Given the description of an element on the screen output the (x, y) to click on. 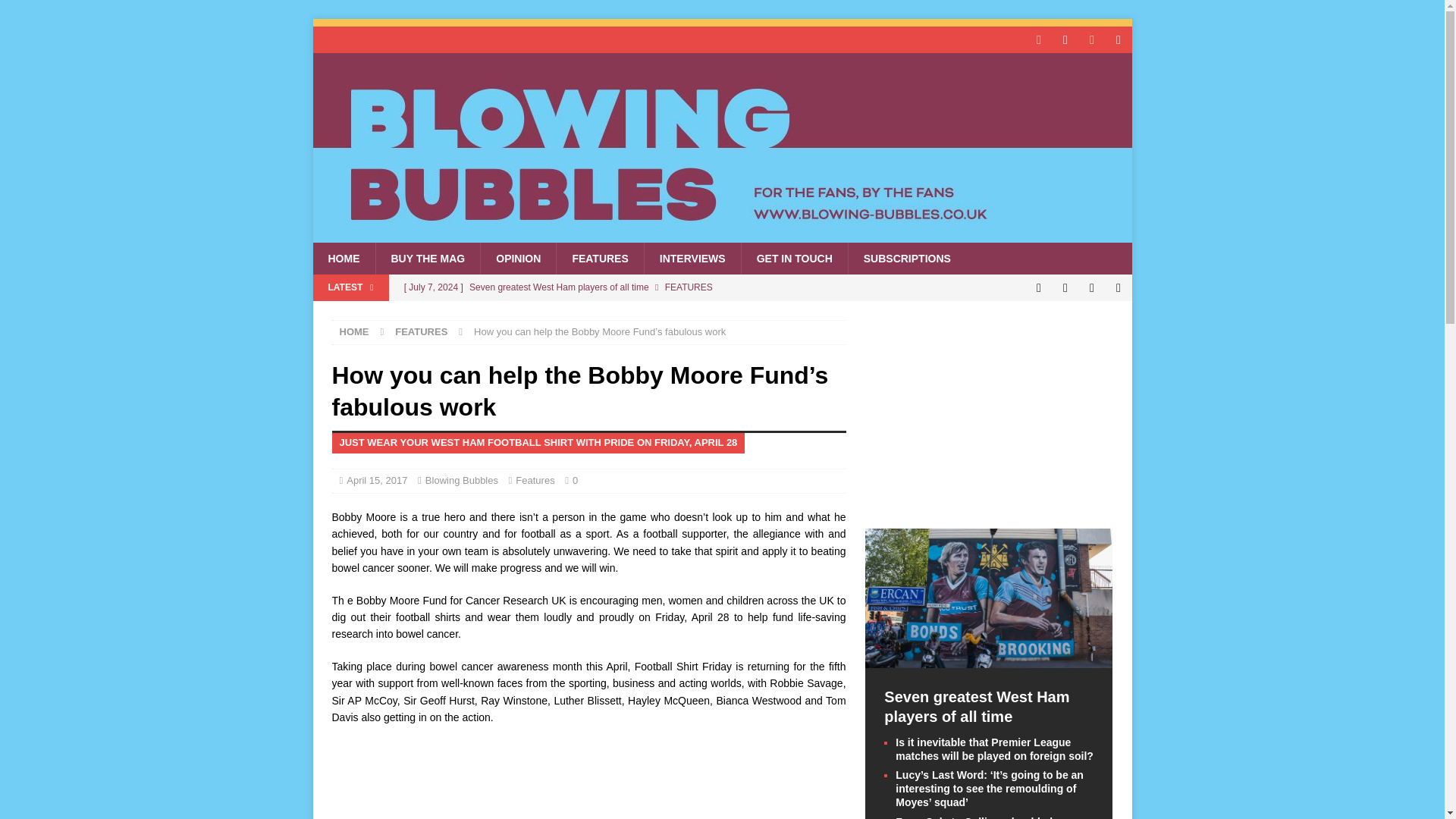
Blowing Bubbles (461, 480)
Blowing Bubbles (722, 234)
BUY THE MAG (427, 258)
Features (534, 480)
HOME (354, 331)
GET IN TOUCH (794, 258)
April 15, 2017 (376, 480)
OPINION (518, 258)
Seven greatest West Ham players of all time (620, 287)
HOME (343, 258)
SUBSCRIPTIONS (906, 258)
INTERVIEWS (692, 258)
FEATURES (420, 331)
FEATURES (599, 258)
